Given the description of an element on the screen output the (x, y) to click on. 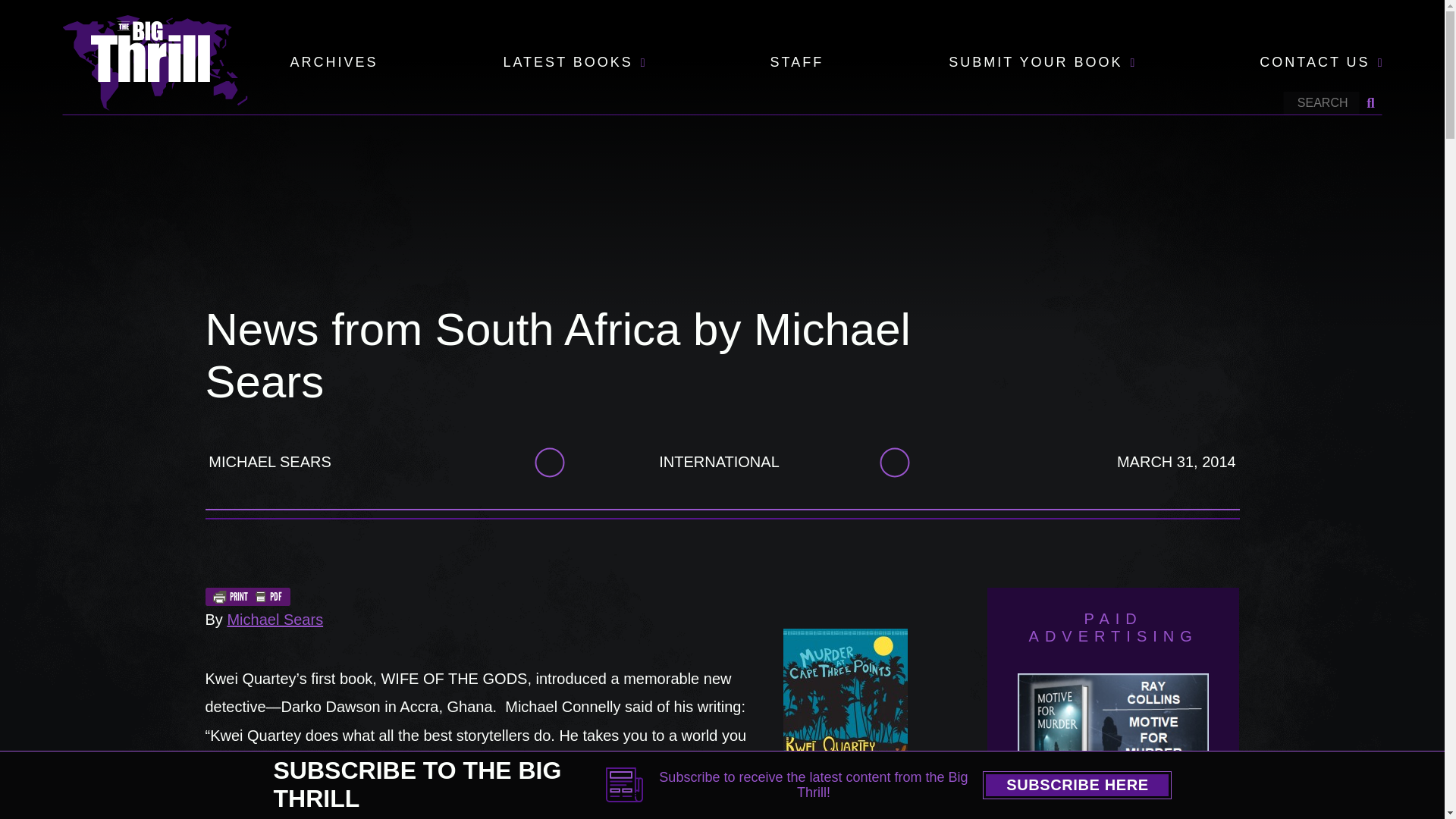
LATEST BOOKS (566, 62)
CONTACT US (1314, 62)
STAFF (797, 62)
Motive for Murder by Ray Collins (1113, 743)
ARCHIVES (333, 62)
SUBMIT YOUR BOOK (1035, 62)
